Given the description of an element on the screen output the (x, y) to click on. 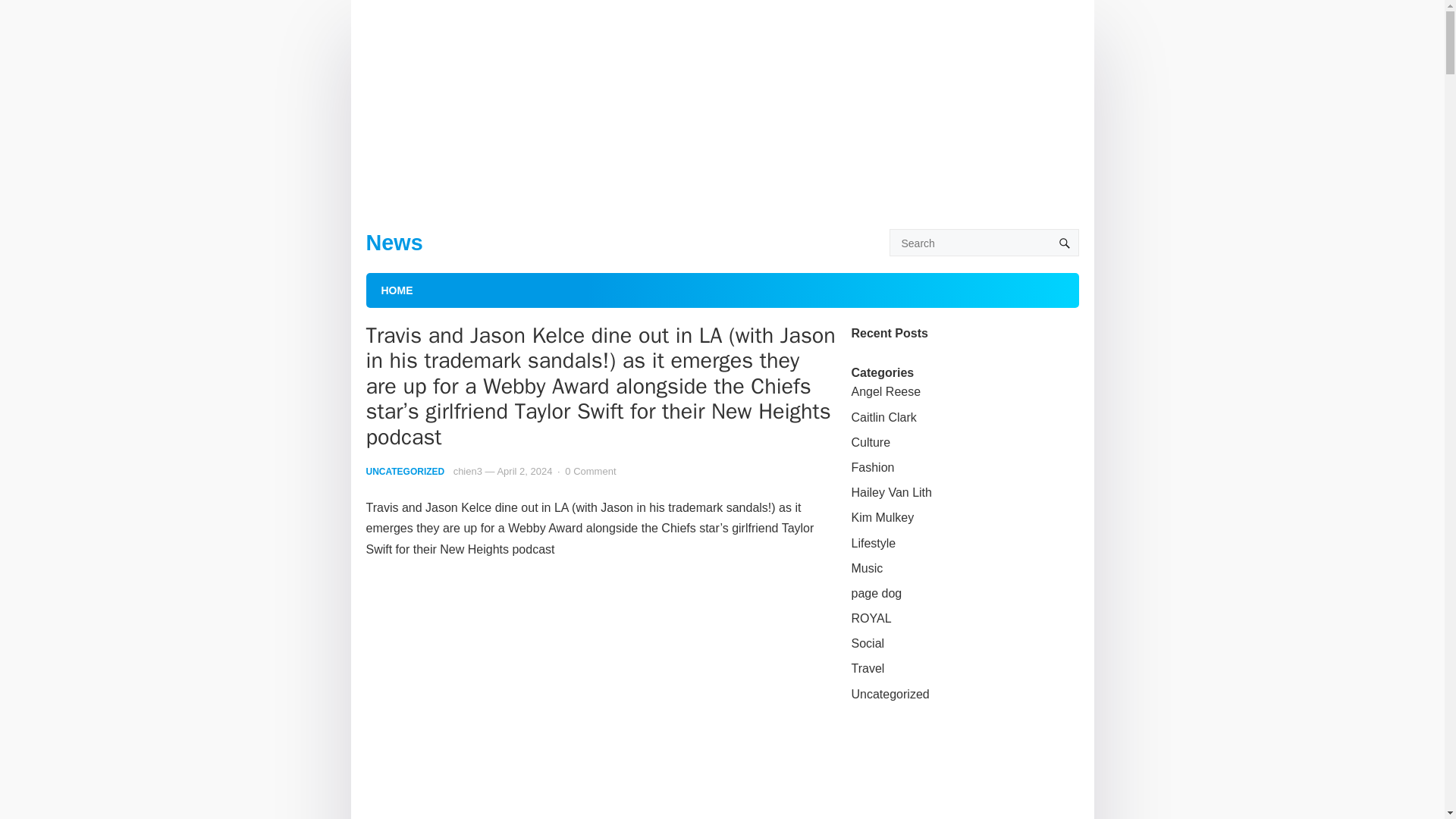
HOME (396, 289)
Music (866, 567)
Posts by chien3 (466, 471)
Hailey Van Lith (890, 492)
Travel (866, 667)
UNCATEGORIZED (404, 471)
0 Comment (589, 471)
Fashion (871, 467)
chien3 (466, 471)
Lifestyle (872, 543)
News (393, 242)
ROYAL (870, 617)
Uncategorized (889, 694)
Culture (869, 441)
